Given the description of an element on the screen output the (x, y) to click on. 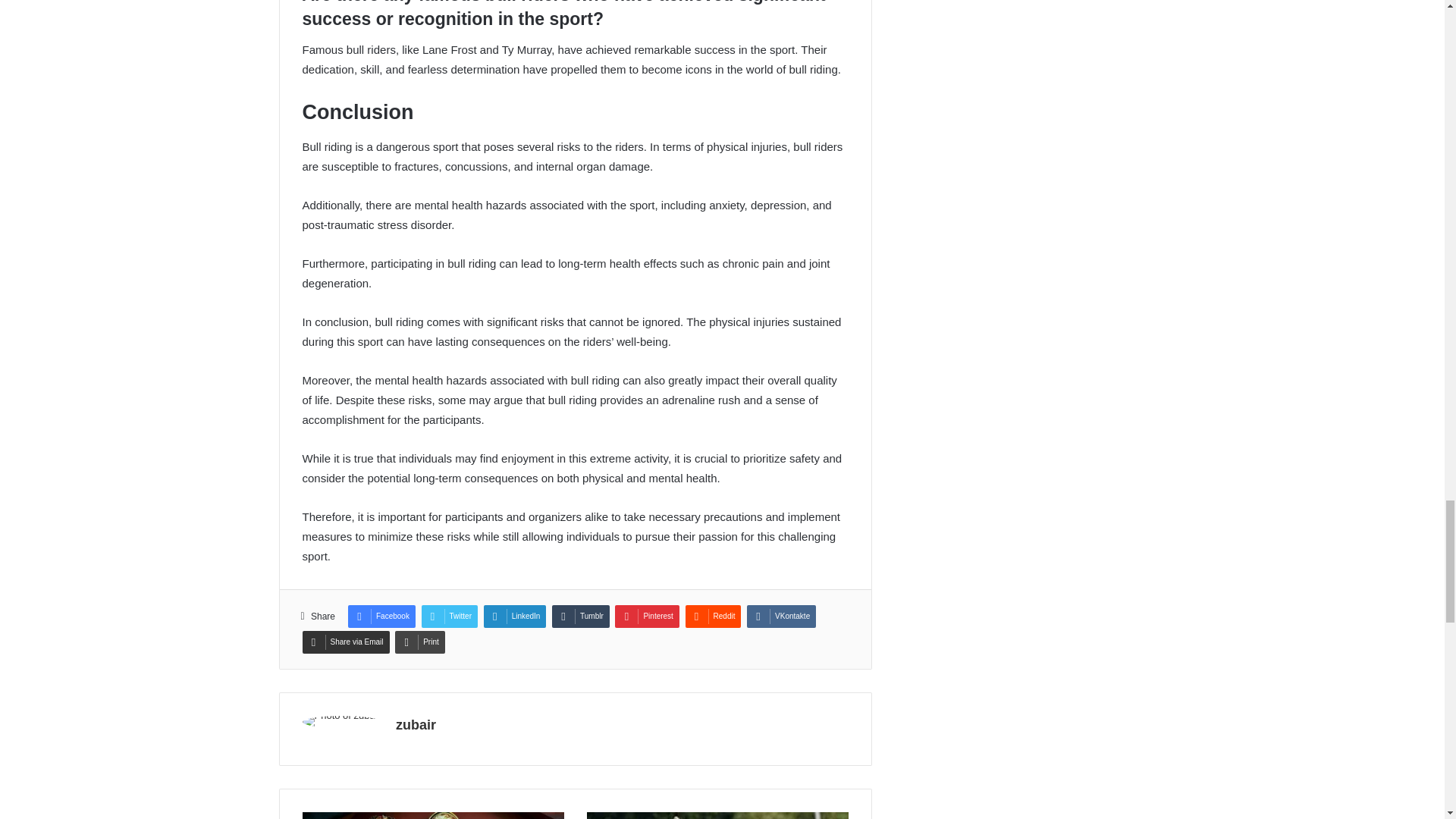
LinkedIn (515, 616)
Twitter (449, 616)
Tumblr (580, 616)
Facebook (380, 616)
